Given the description of an element on the screen output the (x, y) to click on. 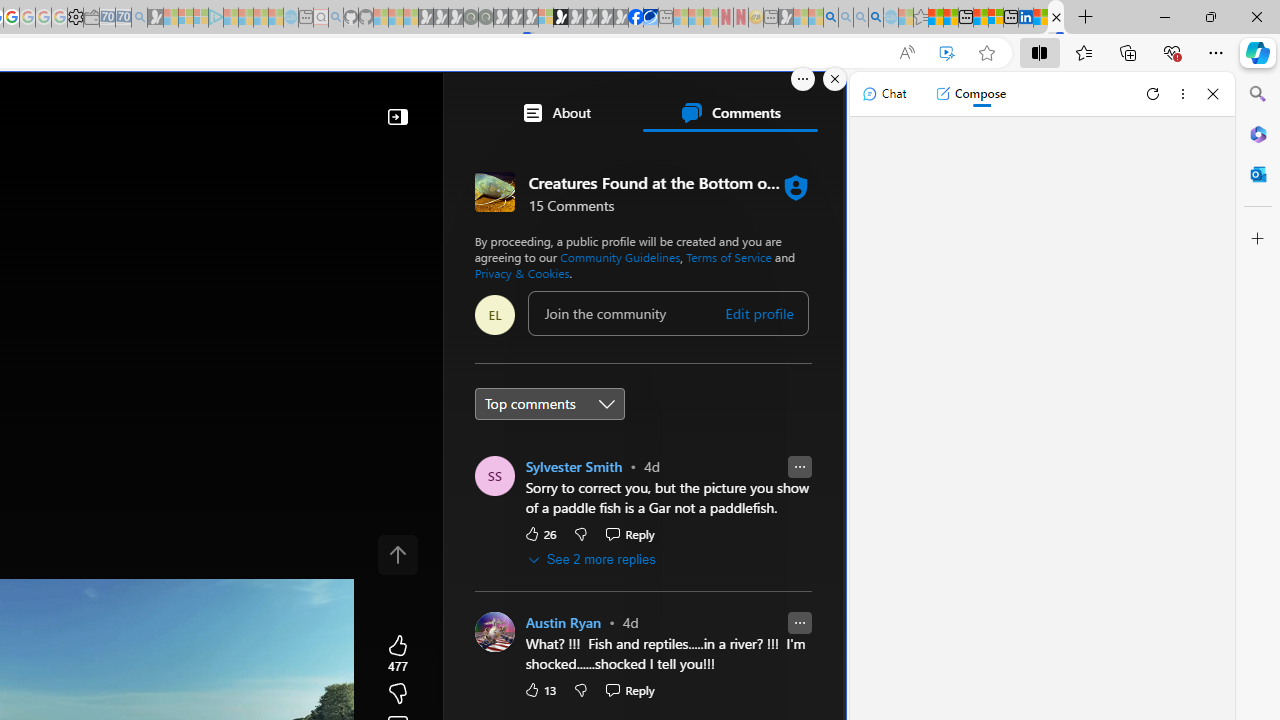
Future Focus Report 2024 - Sleeping (485, 17)
13 Like (539, 690)
